Given the description of an element on the screen output the (x, y) to click on. 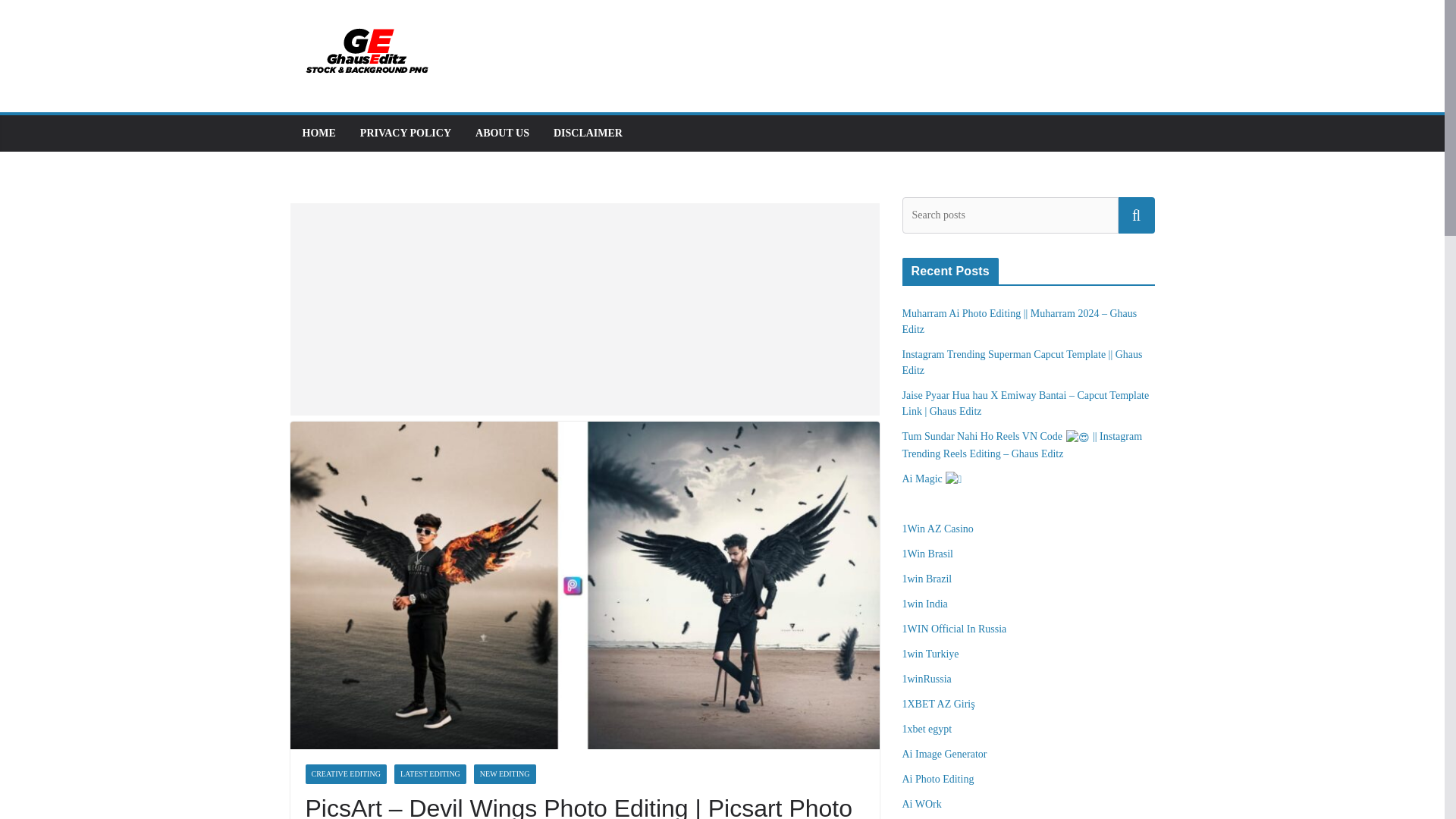
HOME (317, 133)
1win Brazil (927, 578)
1Win Brasil (927, 553)
DISCLAIMER (588, 133)
CREATIVE EDITING (344, 773)
1Win AZ Casino (938, 528)
NEW EDITING (504, 773)
Ai Magic (932, 478)
LATEST EDITING (429, 773)
1WIN Official In Russia (954, 628)
1xbet egypt (927, 728)
1win Turkiye (930, 654)
PRIVACY POLICY (405, 133)
1winRussia (927, 678)
1win India (924, 603)
